Given the description of an element on the screen output the (x, y) to click on. 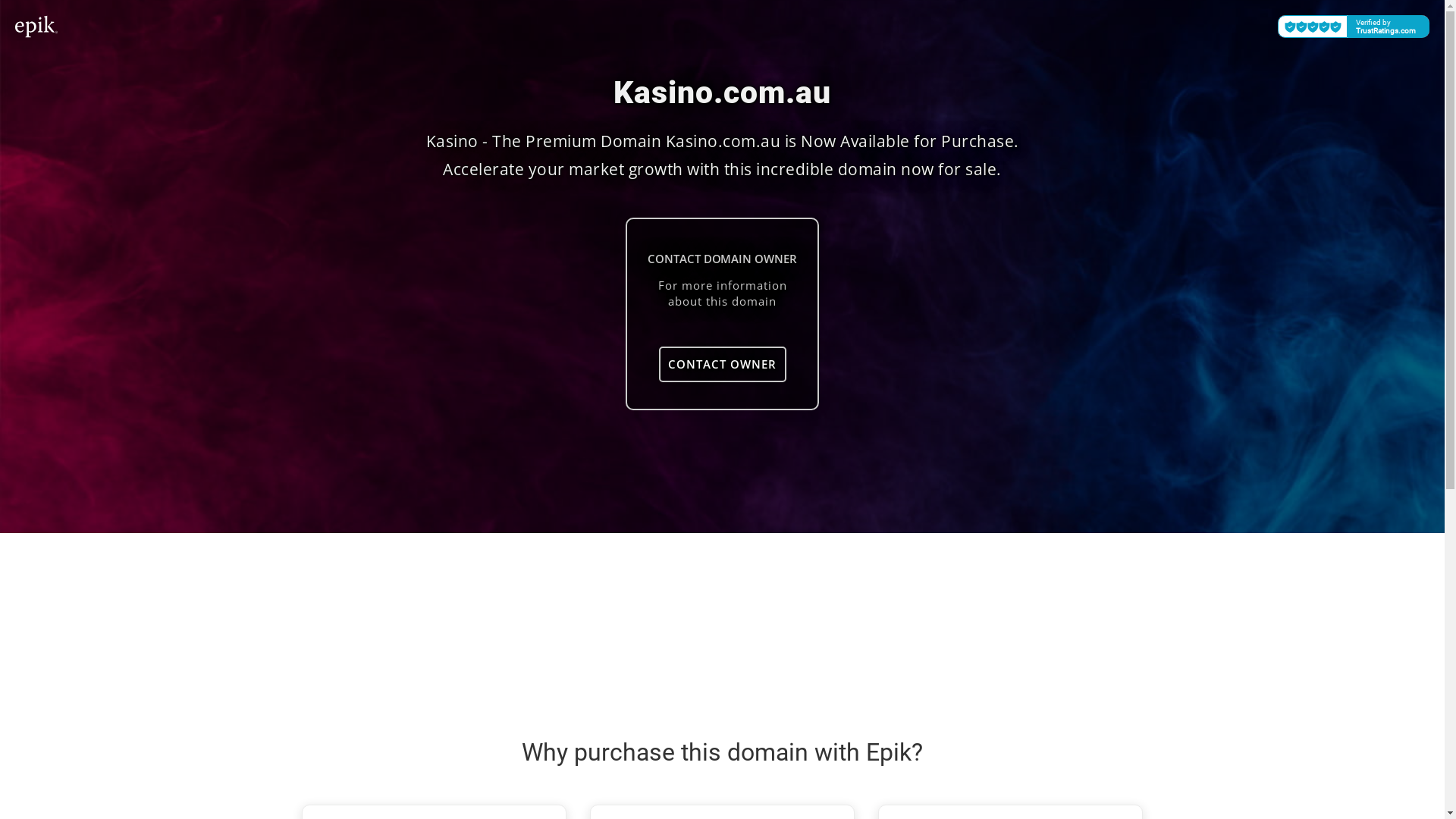
CONTACT OWNER Element type: text (721, 364)
Verified by TrustRatings.com Element type: hover (1353, 26)
